Given the description of an element on the screen output the (x, y) to click on. 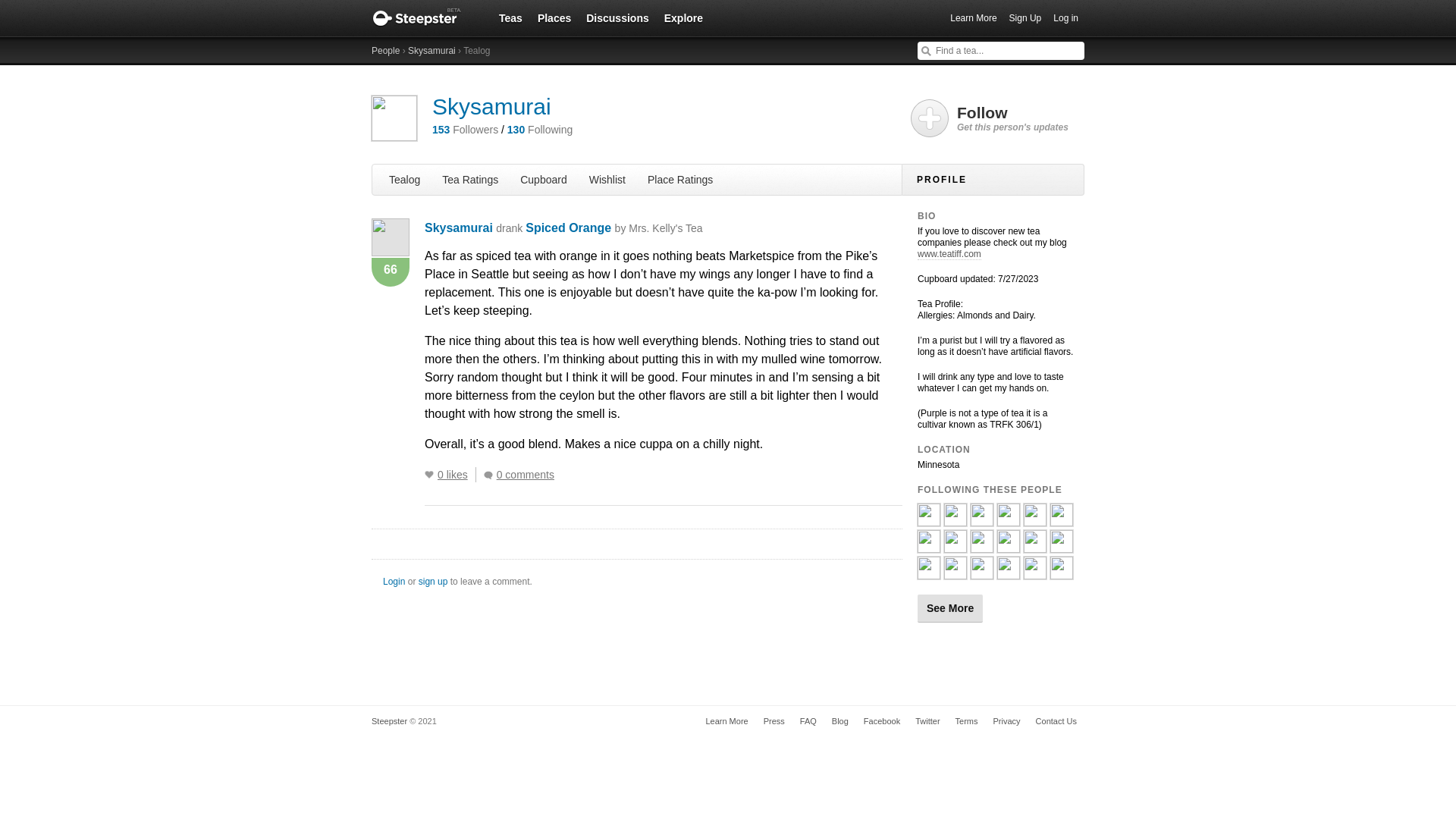
Cupboard (543, 179)
Place Ratings (680, 179)
Sign Up (1025, 18)
130 Following (539, 129)
I Like This (429, 474)
Discussions (616, 17)
View Short Sorceress's Tealog (981, 520)
Log in (1065, 18)
View kimquat's Tealog (981, 546)
View Ellyn's Tealog (1008, 520)
View BrewTEAlly Sweet's Tealog (1034, 520)
View KiwiDelight's Tealog (928, 573)
Spiced Orange by Mrs. Kelly's Tea (613, 227)
Login (393, 581)
Skysamurai (459, 227)
